Given the description of an element on the screen output the (x, y) to click on. 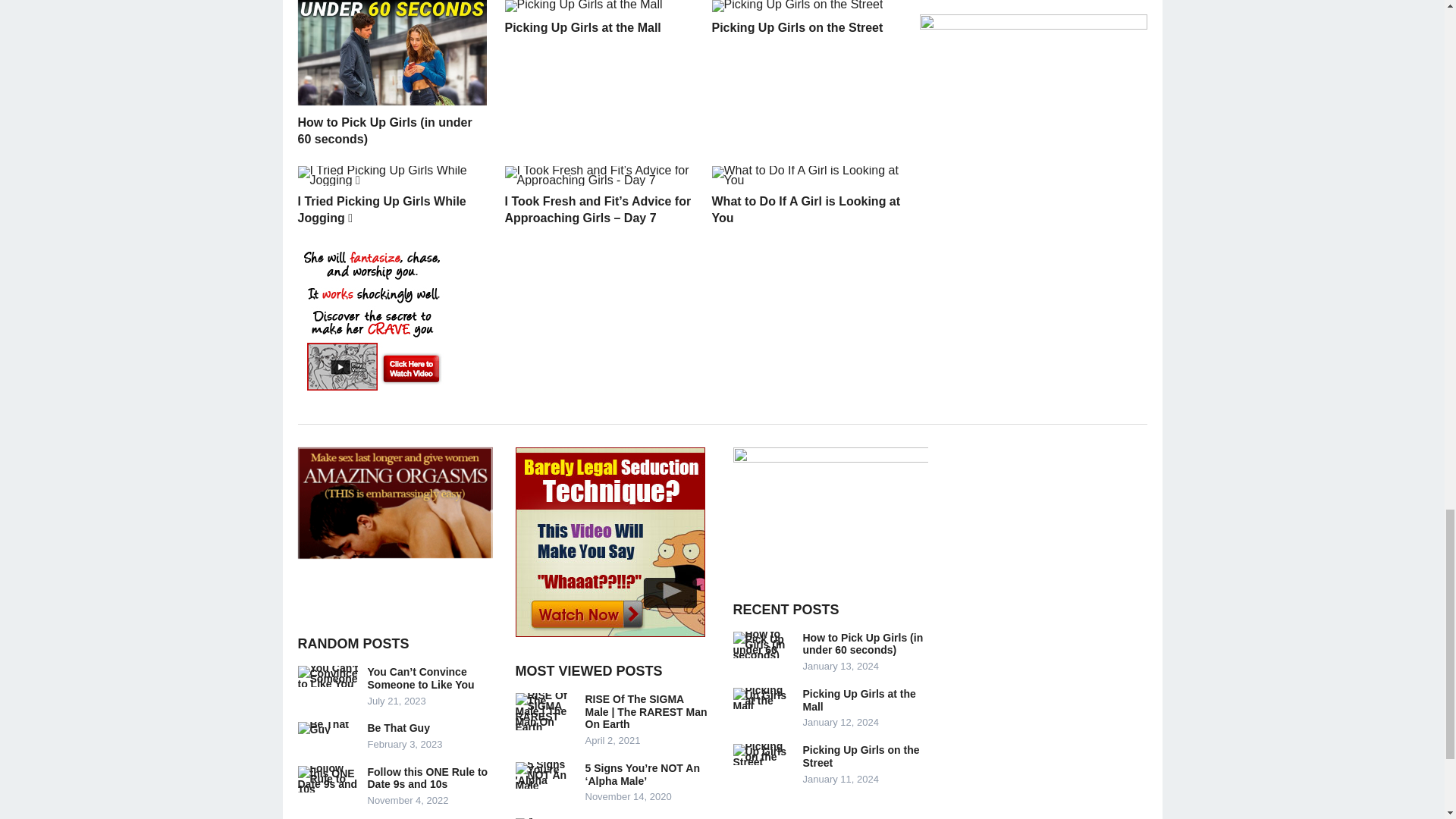
5 Signs You're NOT An 'Alpha Male' 17 (545, 775)
Picking Up Girls on the Street (796, 27)
Picking Up Girls at the Mall 4 (583, 6)
Picking Up Girls on the Street 6 (796, 6)
You Can't Convince Someone to Like You 13 (327, 676)
Picking Up Girls at the Mall (583, 27)
What to Do If A Girl is Looking at You 12 (805, 175)
Follow this ONE Rule to Date 9s and 10s 15 (327, 778)
Be That Guy 14 (327, 727)
